Given the description of an element on the screen output the (x, y) to click on. 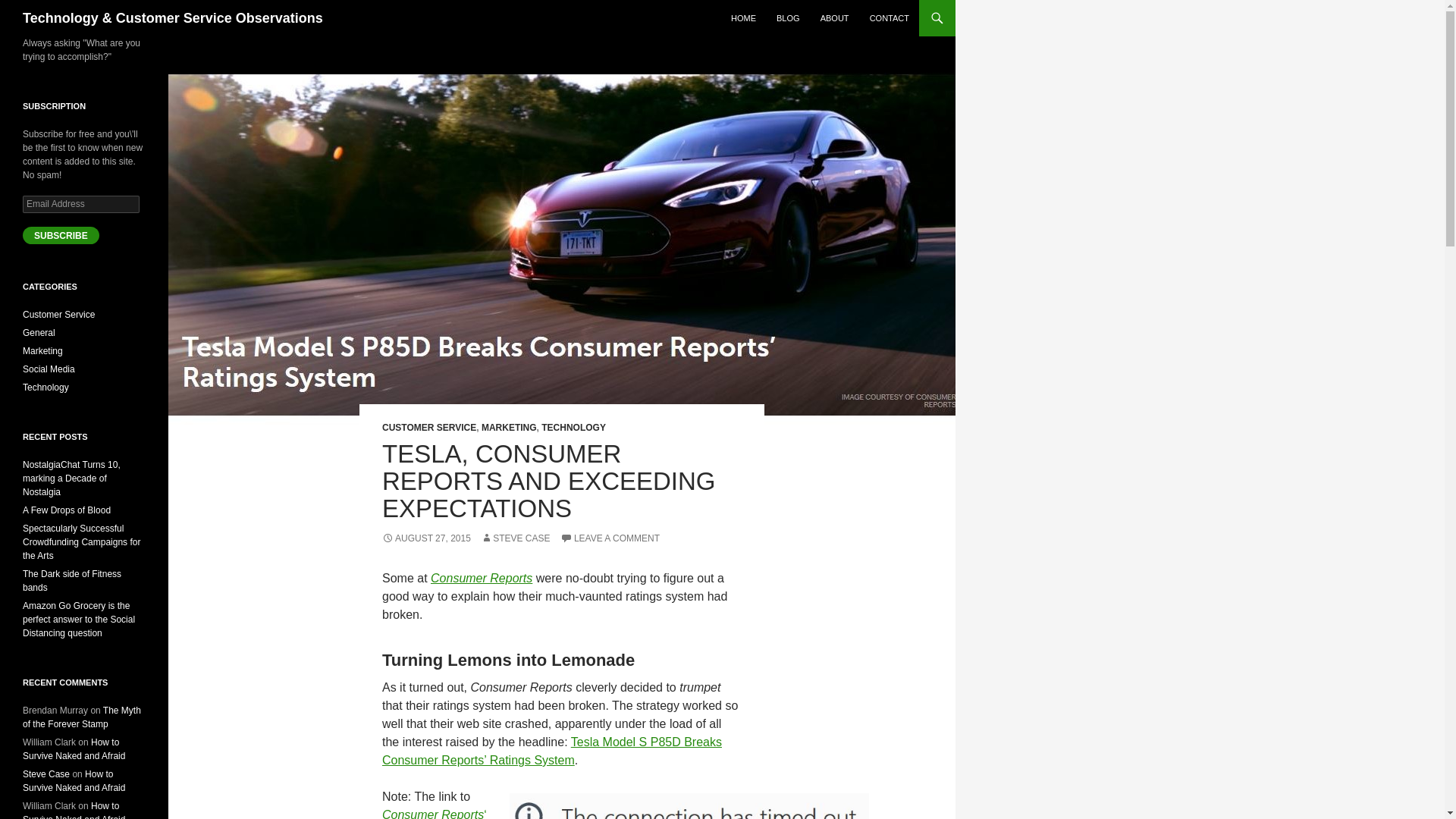
CUSTOMER SERVICE (428, 427)
MARKETING (509, 427)
TECHNOLOGY (573, 427)
BLOG (788, 18)
ABOUT (834, 18)
HOME (743, 18)
STEVE CASE (515, 538)
Consumer Reports (481, 577)
CONTACT (889, 18)
LEAVE A COMMENT (609, 538)
AUGUST 27, 2015 (425, 538)
